Given the description of an element on the screen output the (x, y) to click on. 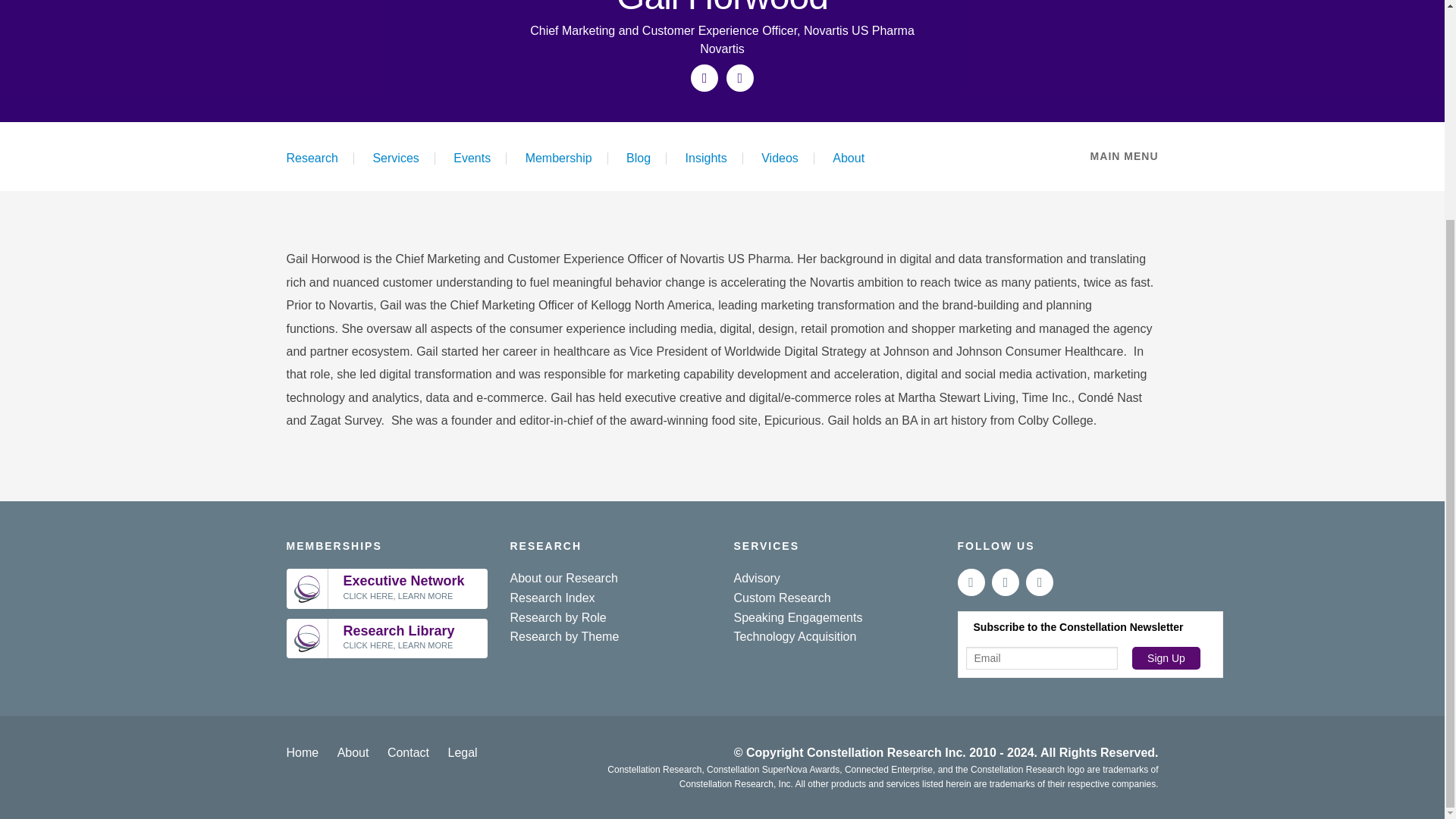
Research Agenda (536, 1)
Research Policies (536, 19)
Research Services (536, 53)
Sign Up (1165, 658)
